Given the description of an element on the screen output the (x, y) to click on. 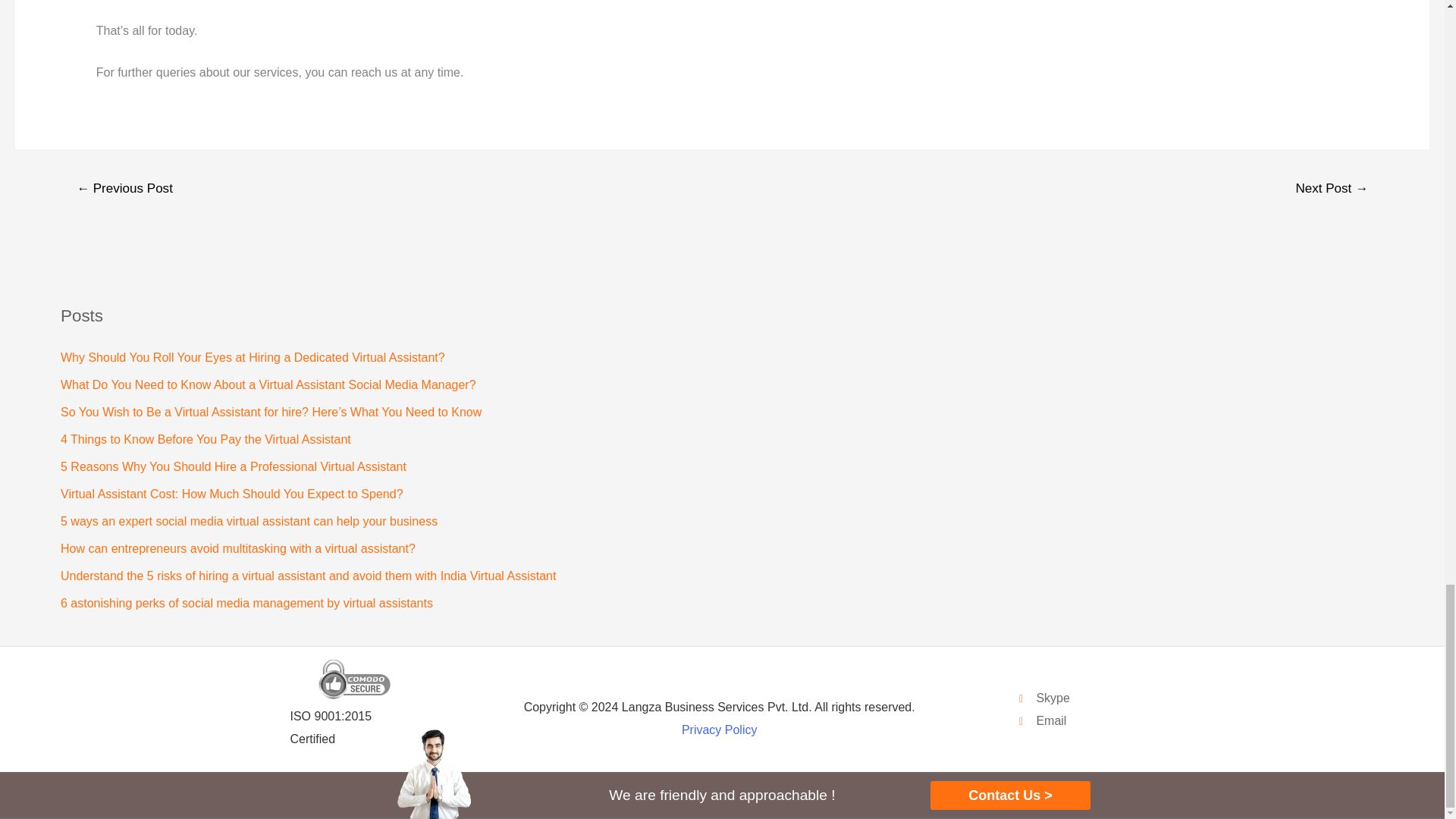
4 Things to Know Before You Pay the Virtual Assistant (745, 439)
Virtual Assistant Cost: How Much Should You Expect to Spend? (745, 494)
